Given the description of an element on the screen output the (x, y) to click on. 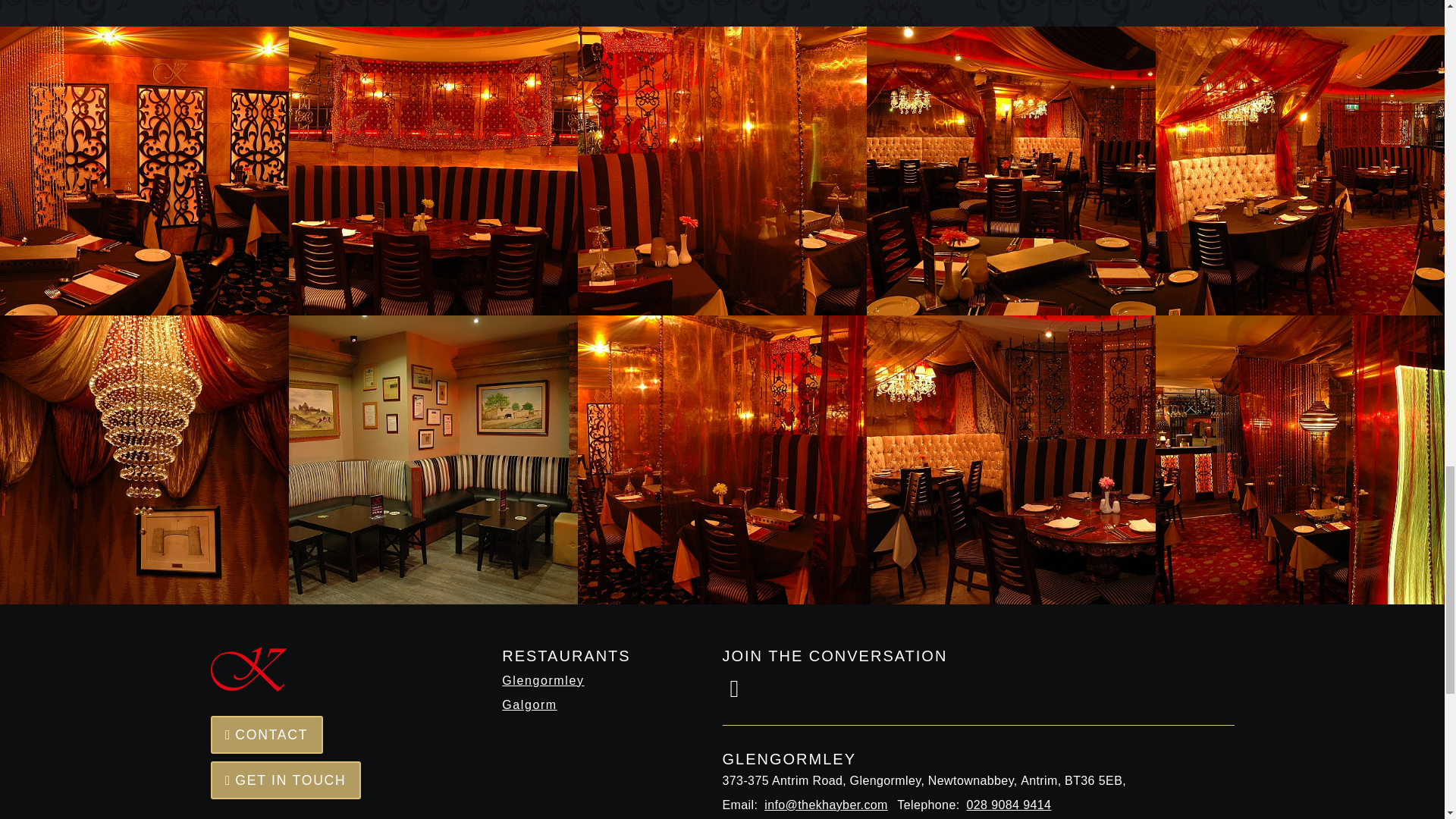
Go to google maps (977, 768)
Glengormley (593, 680)
Galgorm (593, 704)
GET IN TOUCH (286, 780)
The Khayber Restaurants (248, 669)
CONTACT (267, 734)
